Given the description of an element on the screen output the (x, y) to click on. 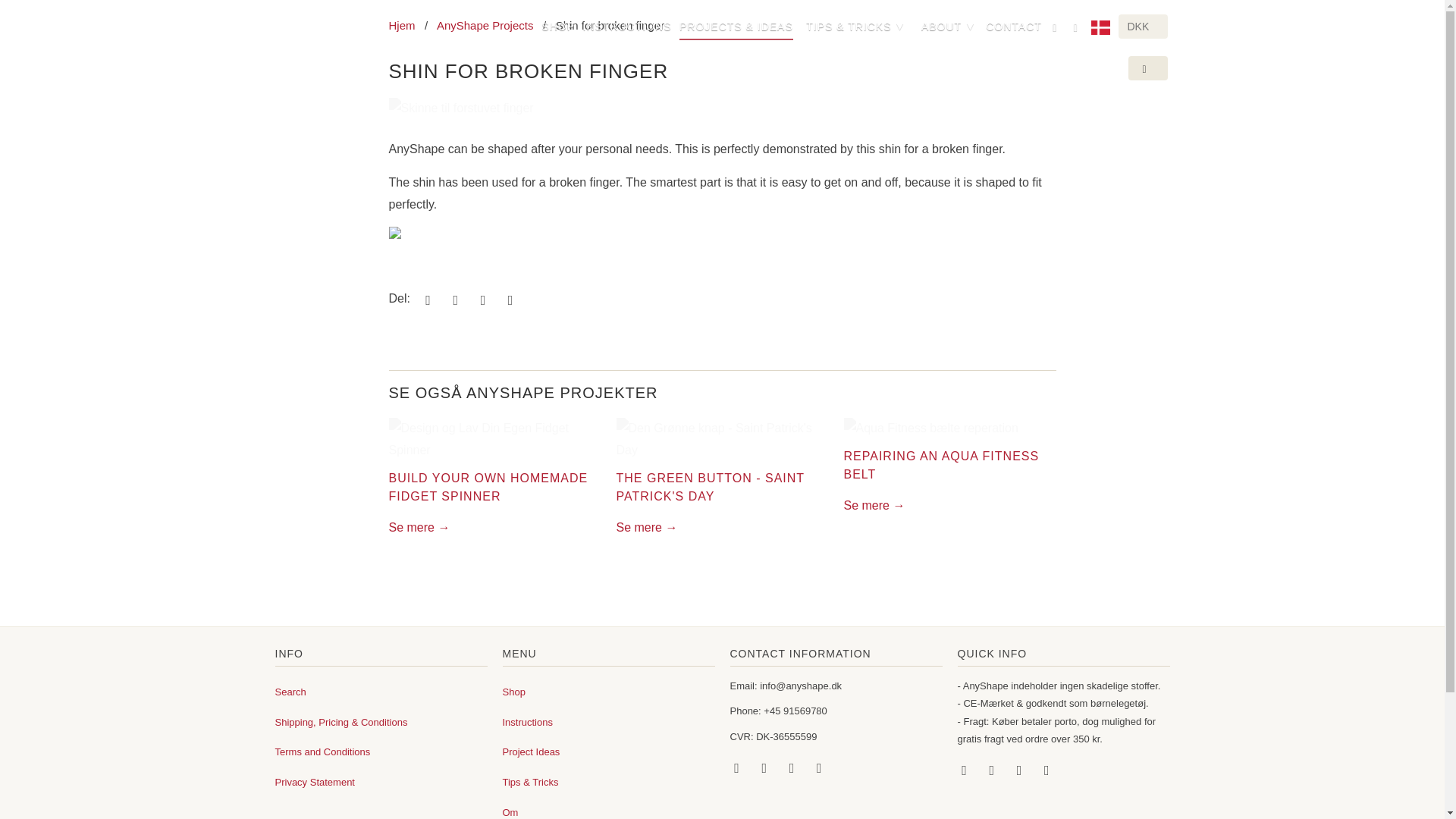
Repairing an Aqua Fitness belt (941, 464)
INSTRUCTIONS (626, 29)
The Green Button - Saint Patrick's Day (709, 486)
Repairing an Aqua Fitness belt (873, 504)
Repairing an Aqua Fitness belt (949, 428)
Send en Email til en ven (507, 299)
Build your own homemade Fidget Spinner (493, 439)
SHOP (558, 29)
The Green Button - Saint Patrick's Day (646, 526)
The Green Button - Saint Patrick's Day (721, 439)
